Given the description of an element on the screen output the (x, y) to click on. 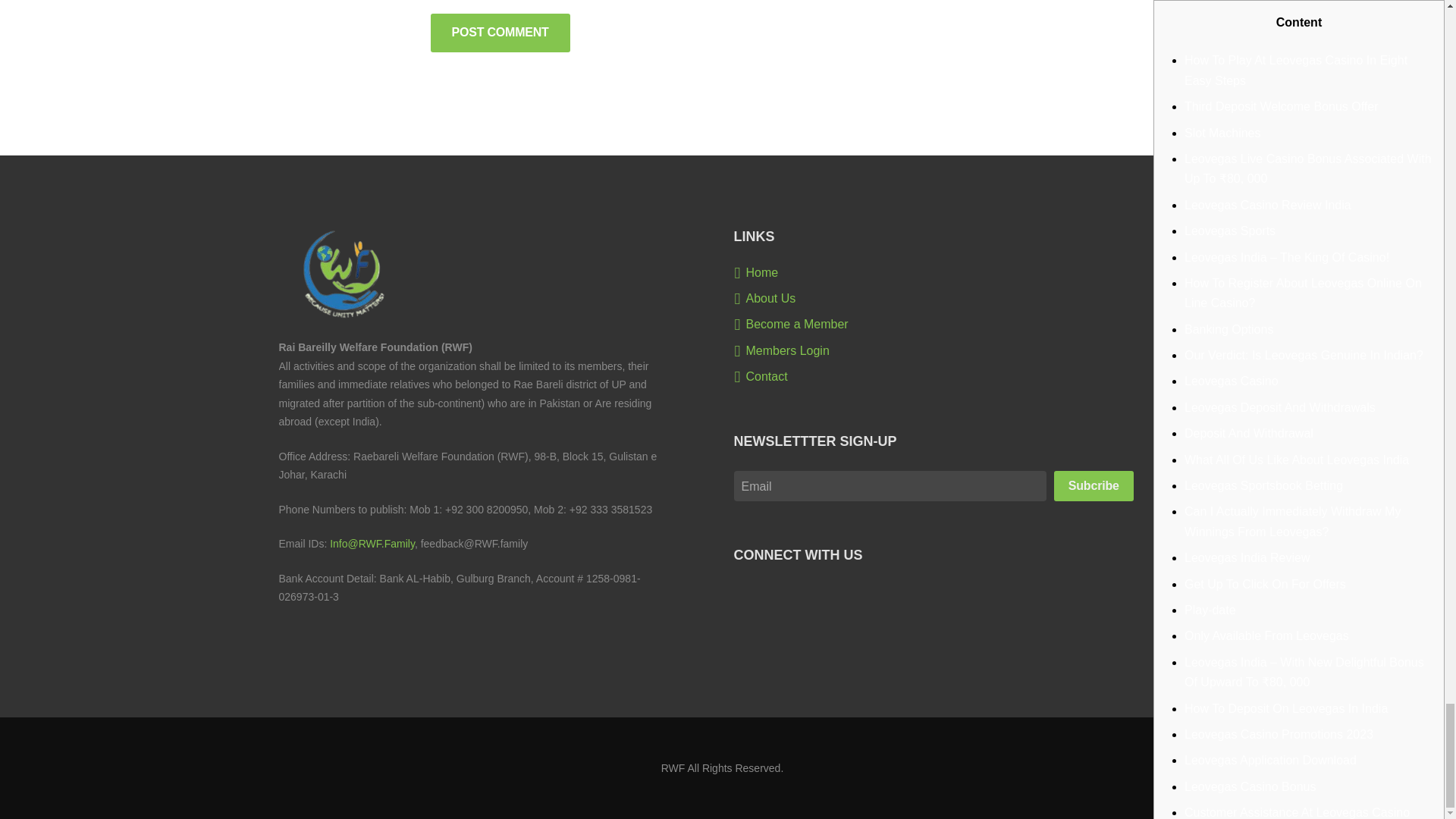
Post Comment (500, 32)
Subcribe (1094, 485)
